Given the description of an element on the screen output the (x, y) to click on. 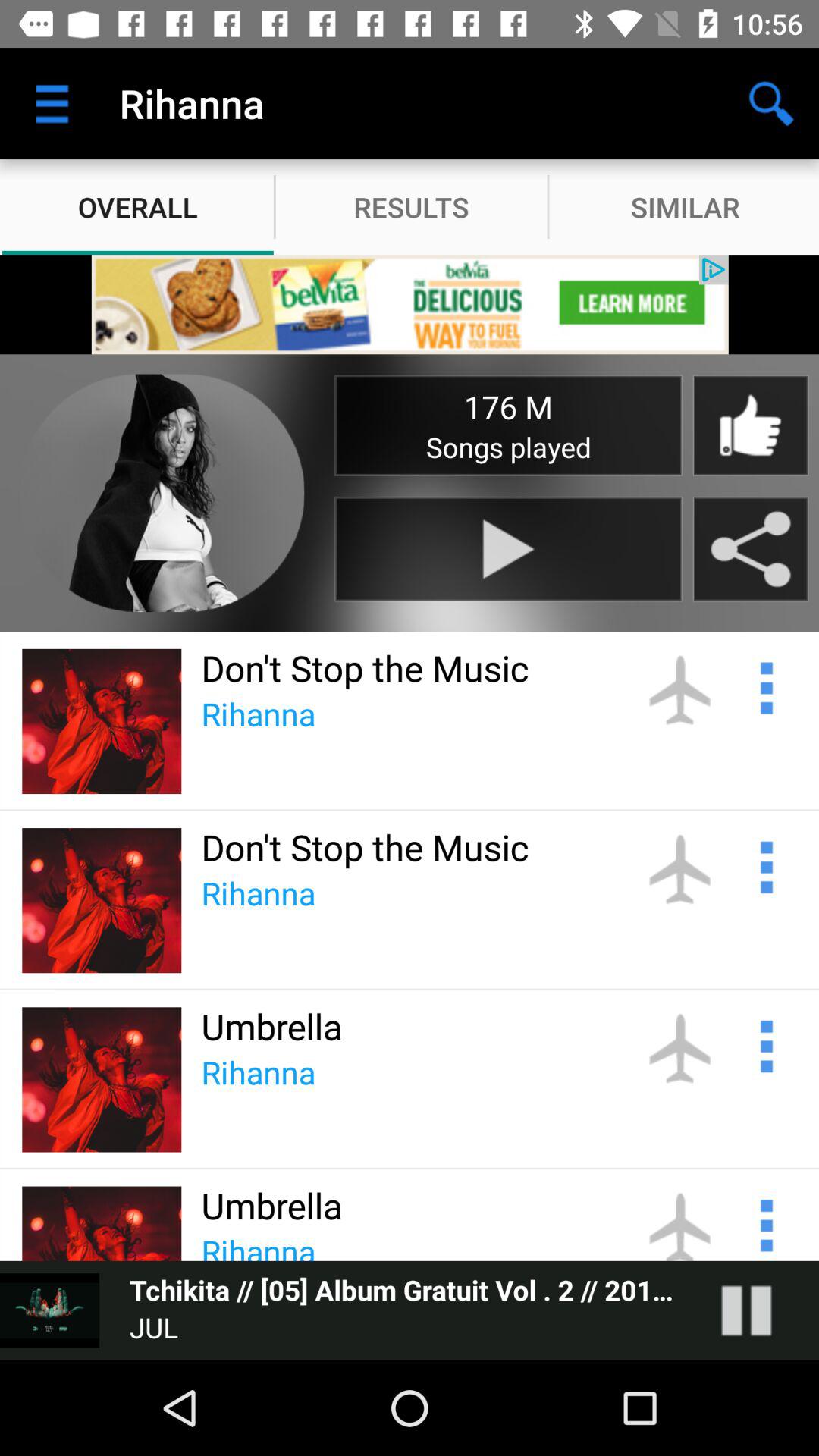
more info (764, 685)
